Given the description of an element on the screen output the (x, y) to click on. 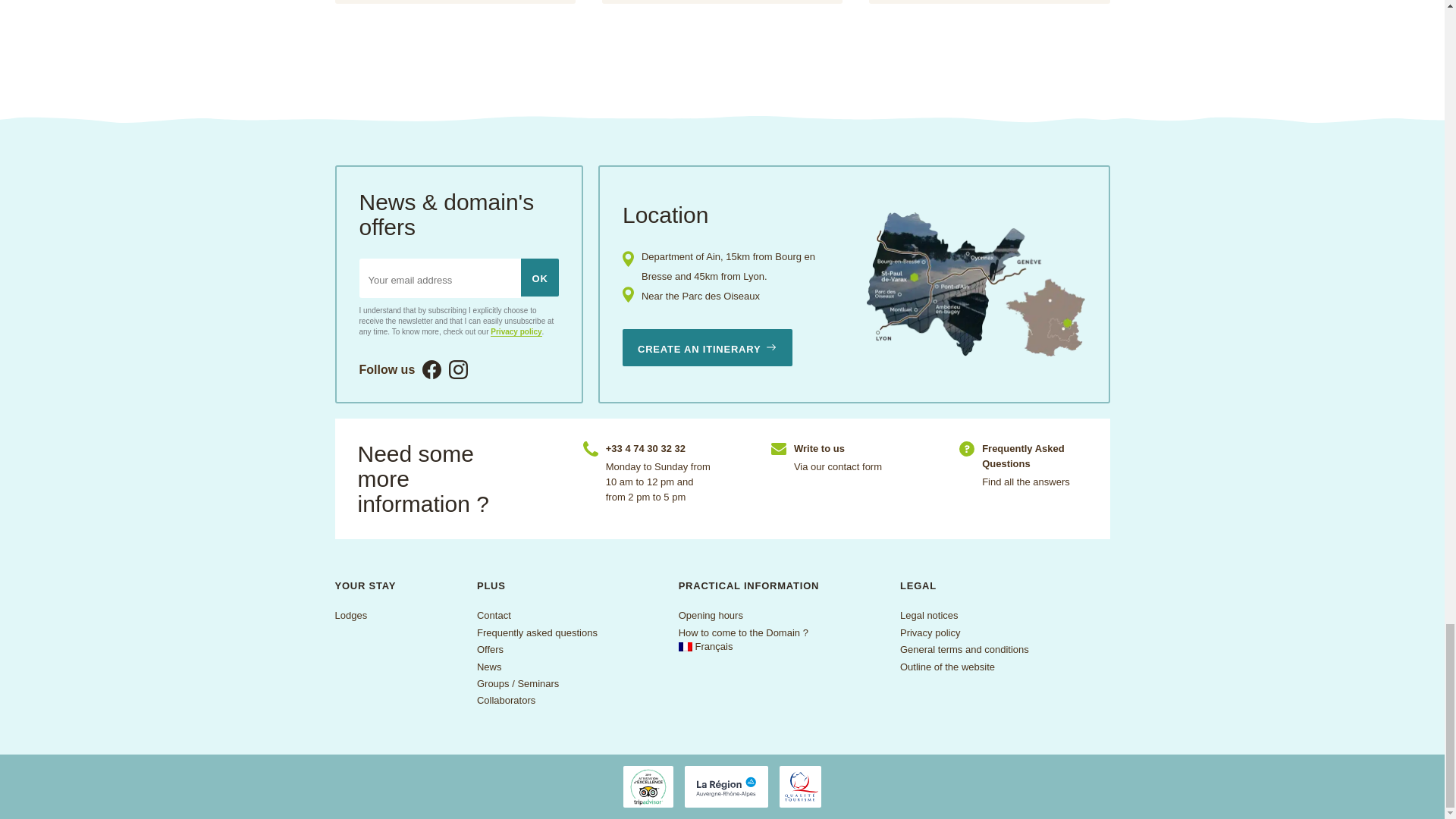
OK (540, 277)
Visitez notre page Facebook. Ouverture dans un nouvel onglet (431, 369)
OK (540, 277)
Visitez notre Instagram. Ouverture dans un nouvel onglet (457, 369)
Privacy policy (515, 331)
